Given the description of an element on the screen output the (x, y) to click on. 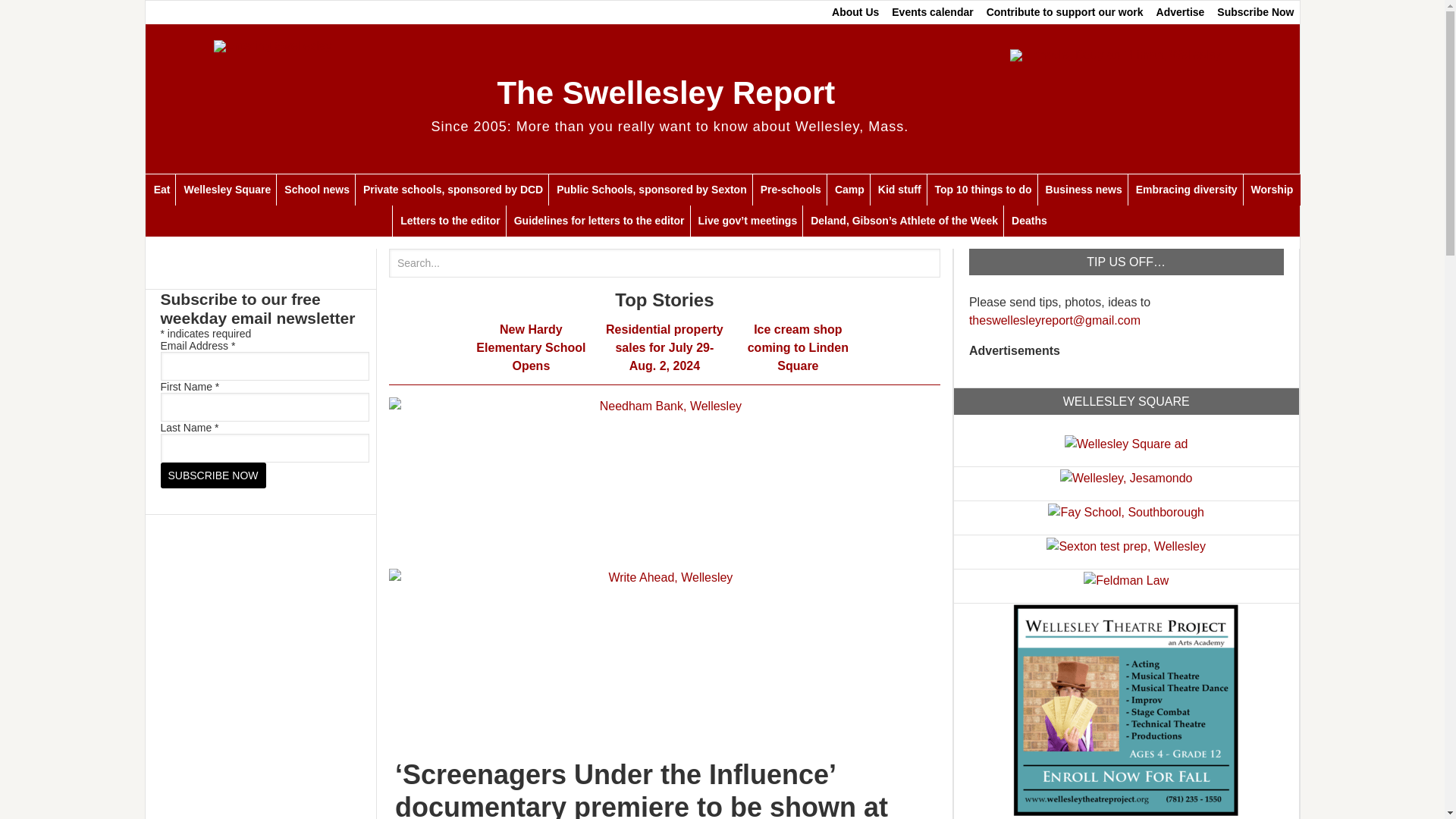
Residential property sales for July 29-Aug. 2, 2024 (664, 347)
Events calendar (931, 12)
Advertise (1180, 12)
Contribute to support our work (1064, 12)
Eat (162, 189)
Top 10 things to do (982, 189)
Wellesley Square (226, 189)
New Hardy Elementary School Opens (530, 347)
Business news (1082, 189)
